Given the description of an element on the screen output the (x, y) to click on. 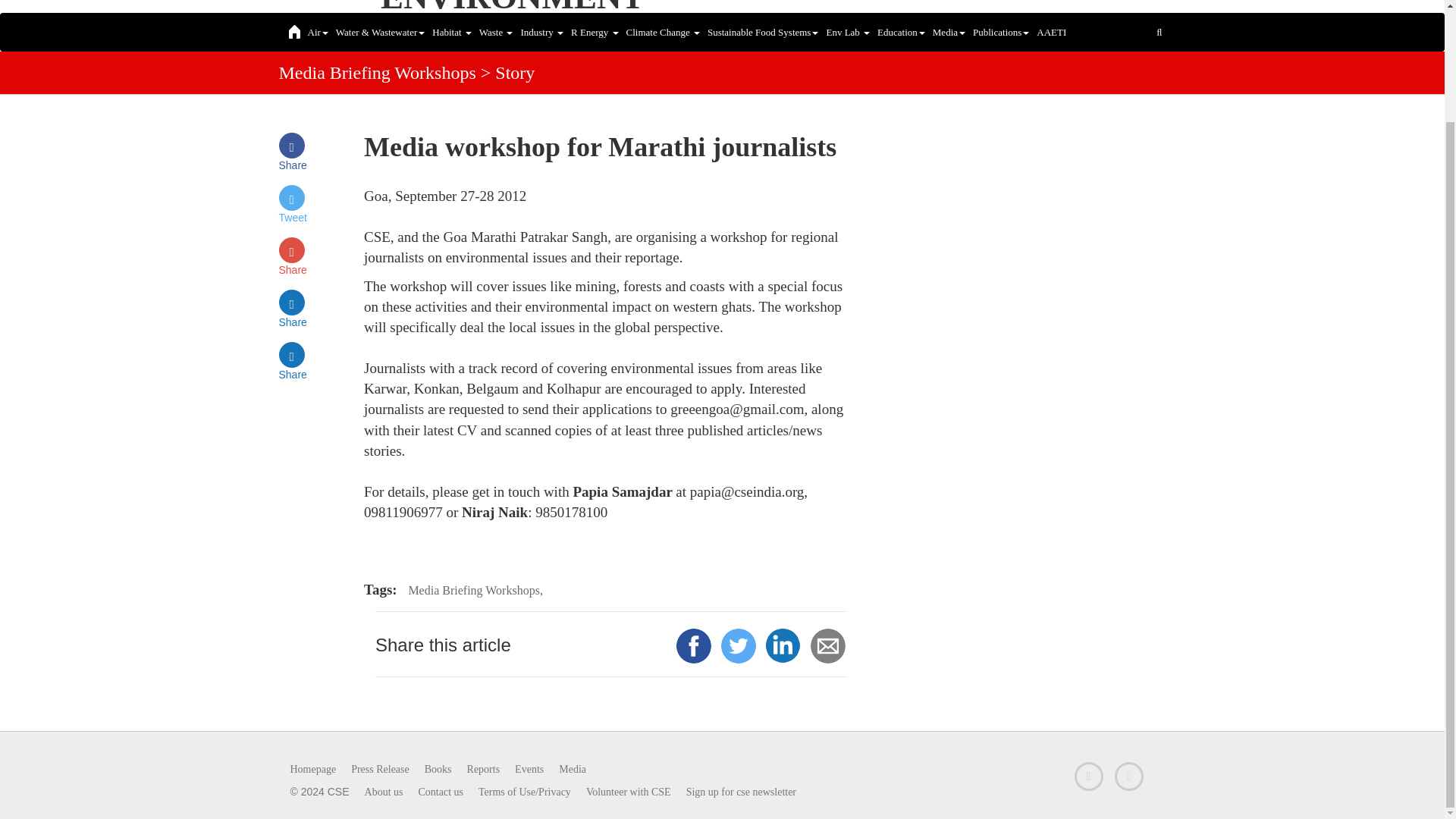
Air (512, 7)
